Given the description of an element on the screen output the (x, y) to click on. 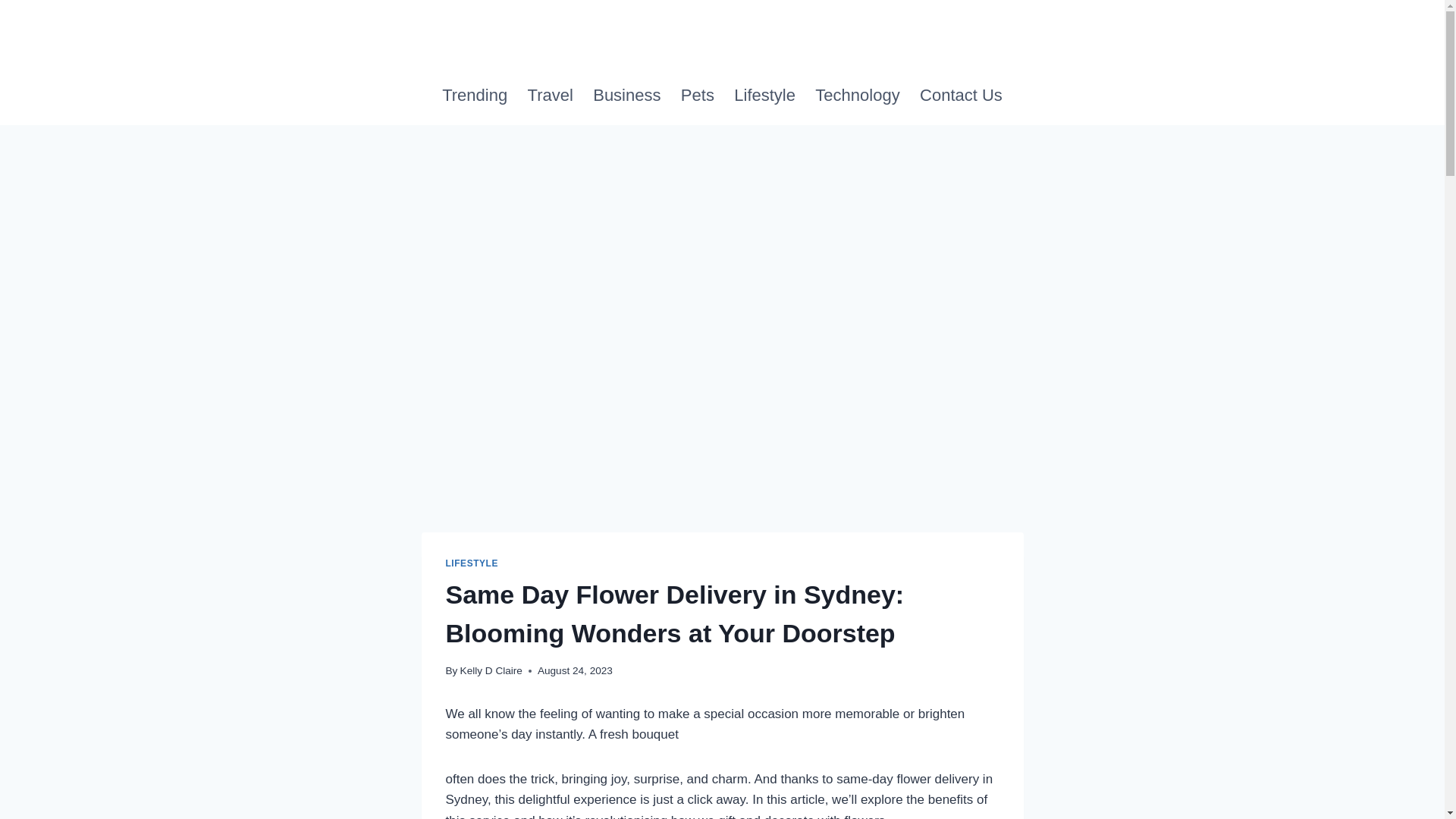
LIFESTYLE (471, 562)
Contact Us (960, 95)
Business (627, 95)
Trending (474, 95)
Technology (857, 95)
Kelly D Claire (491, 670)
Lifestyle (764, 95)
Pets (697, 95)
Travel (549, 95)
